Given the description of an element on the screen output the (x, y) to click on. 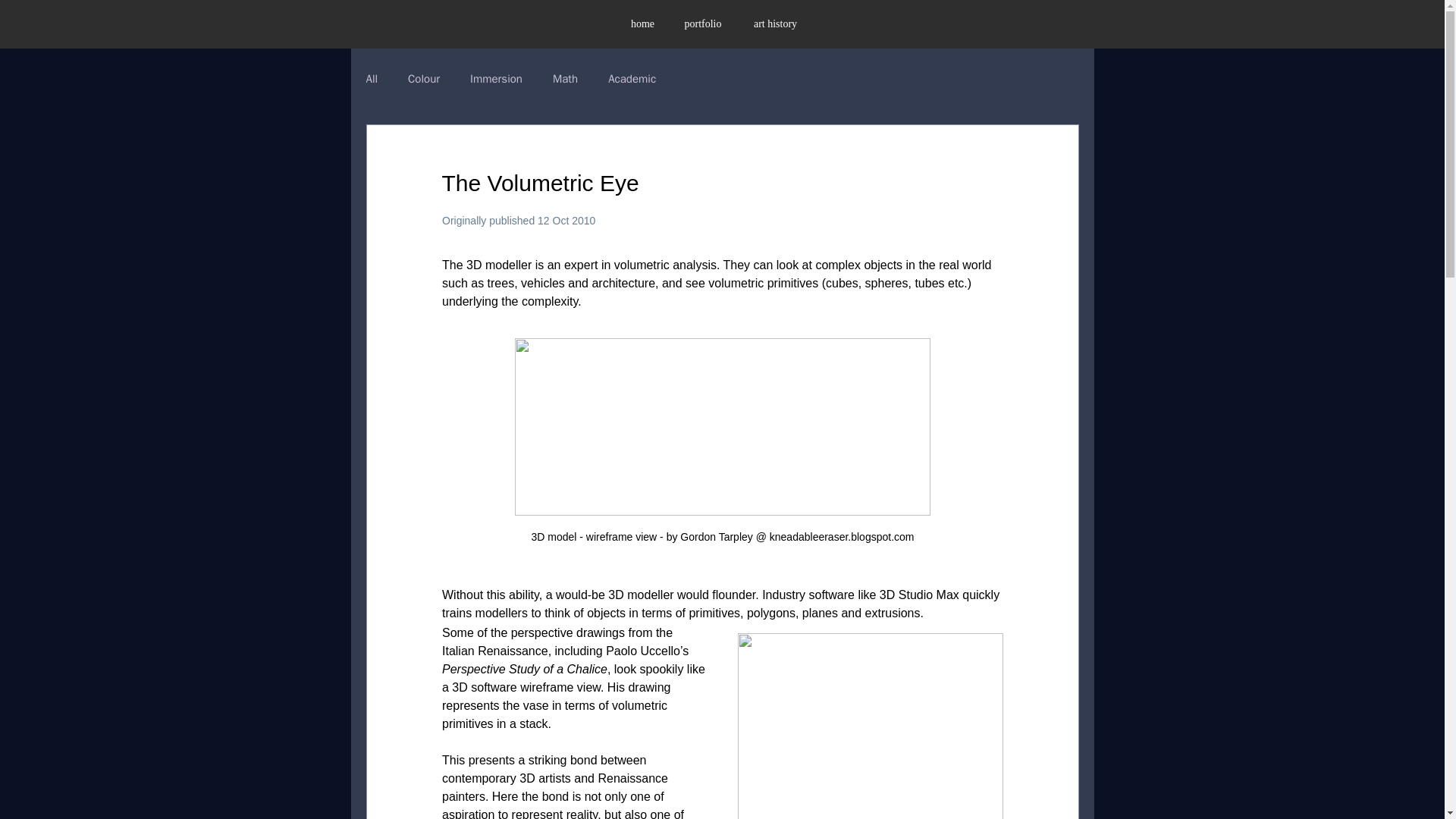
portfolio (702, 23)
Colour (423, 78)
Math (565, 78)
home (641, 23)
Academic (632, 78)
art history (774, 23)
Immersion (496, 78)
